Given the description of an element on the screen output the (x, y) to click on. 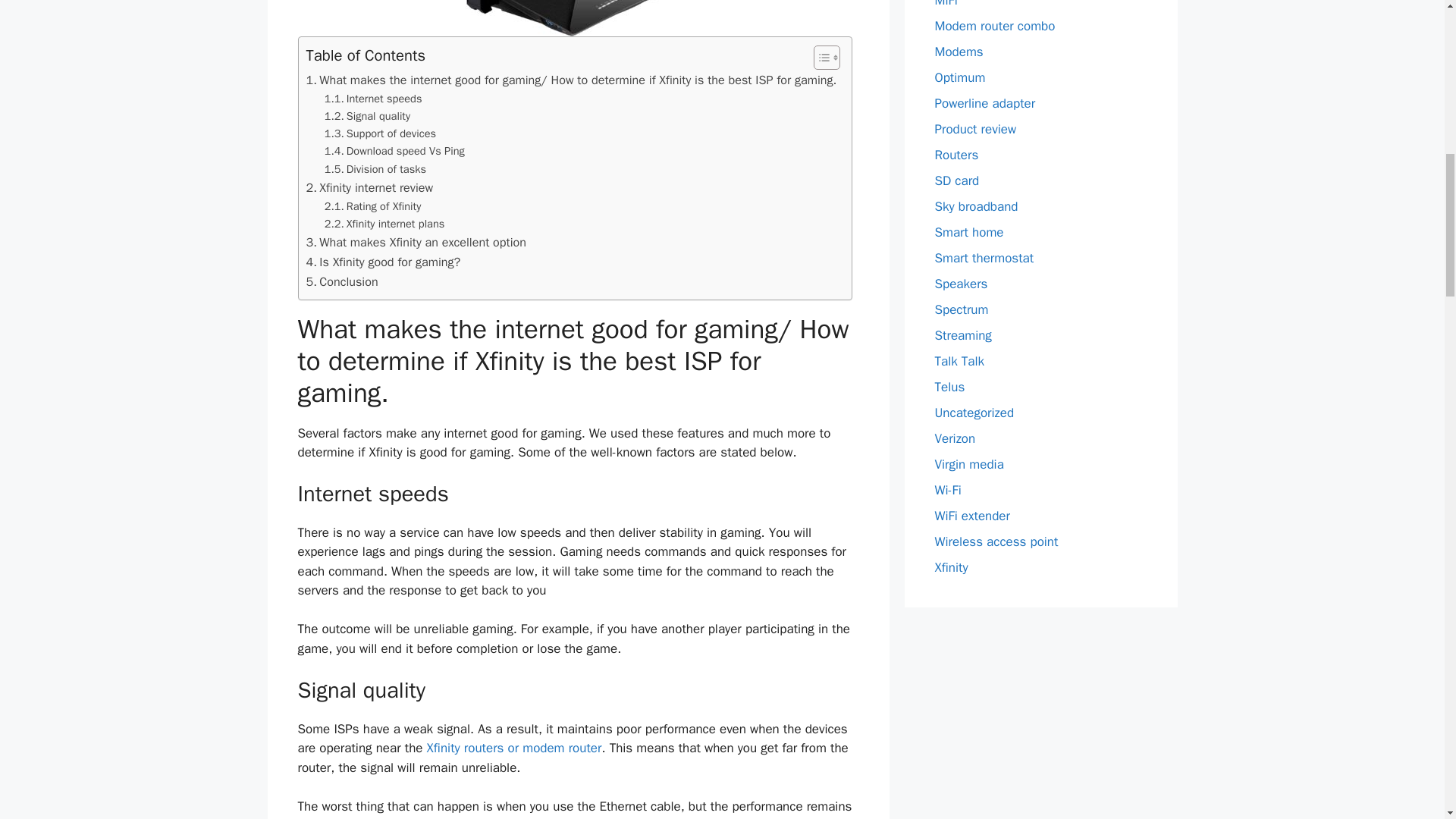
Conclusion (341, 281)
Conclusion (341, 281)
Rating of Xfinity (373, 206)
Is Xfinity good for gaming? (383, 261)
Division of tasks (375, 169)
Support of devices (379, 133)
What makes Xfinity an excellent option (415, 242)
Xfinity internet plans (384, 223)
Rating of Xfinity (373, 206)
Internet speeds (373, 98)
